Given the description of an element on the screen output the (x, y) to click on. 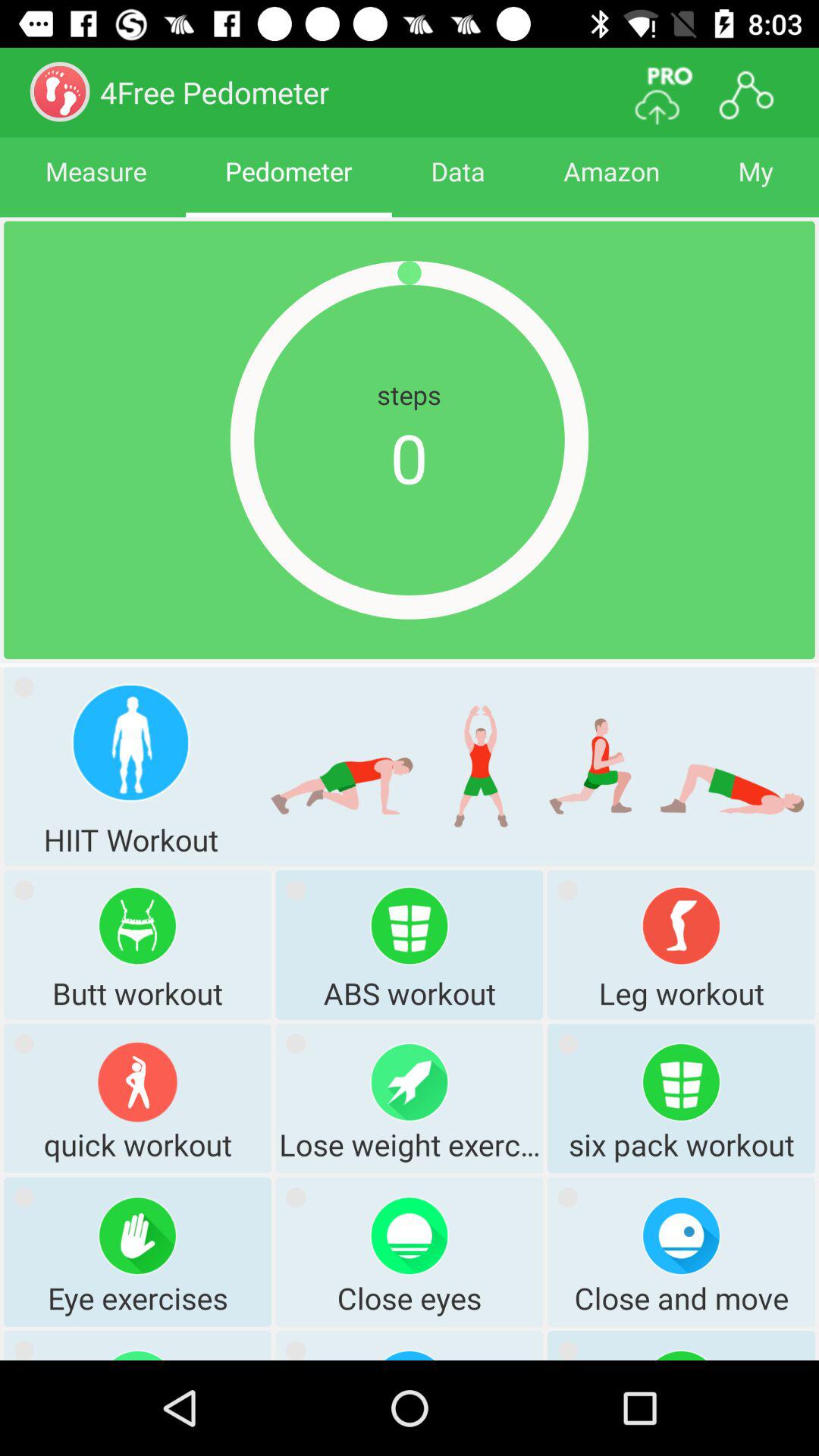
click the app next to pedometer icon (457, 185)
